Given the description of an element on the screen output the (x, y) to click on. 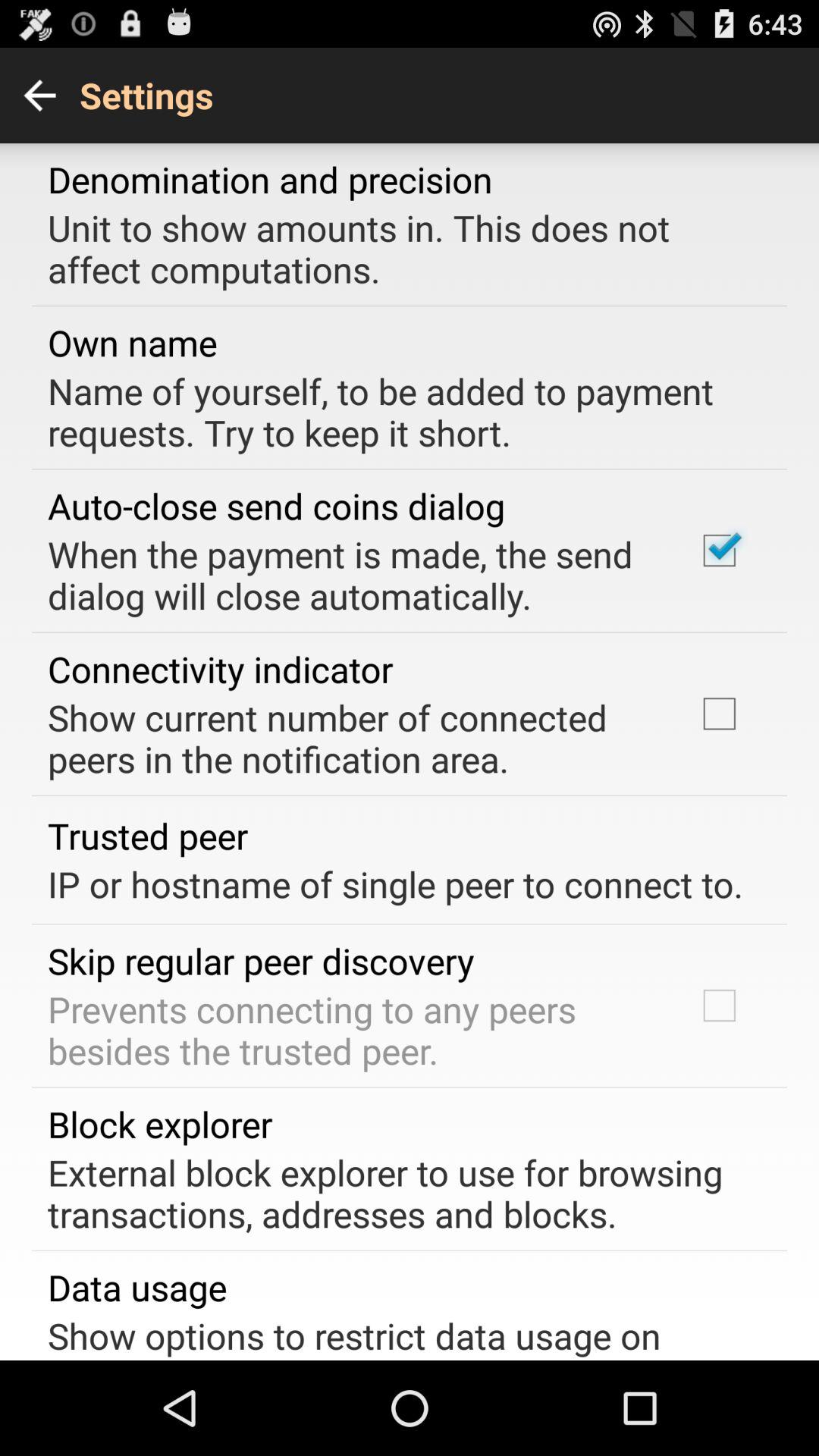
jump to the skip regular peer (260, 960)
